Given the description of an element on the screen output the (x, y) to click on. 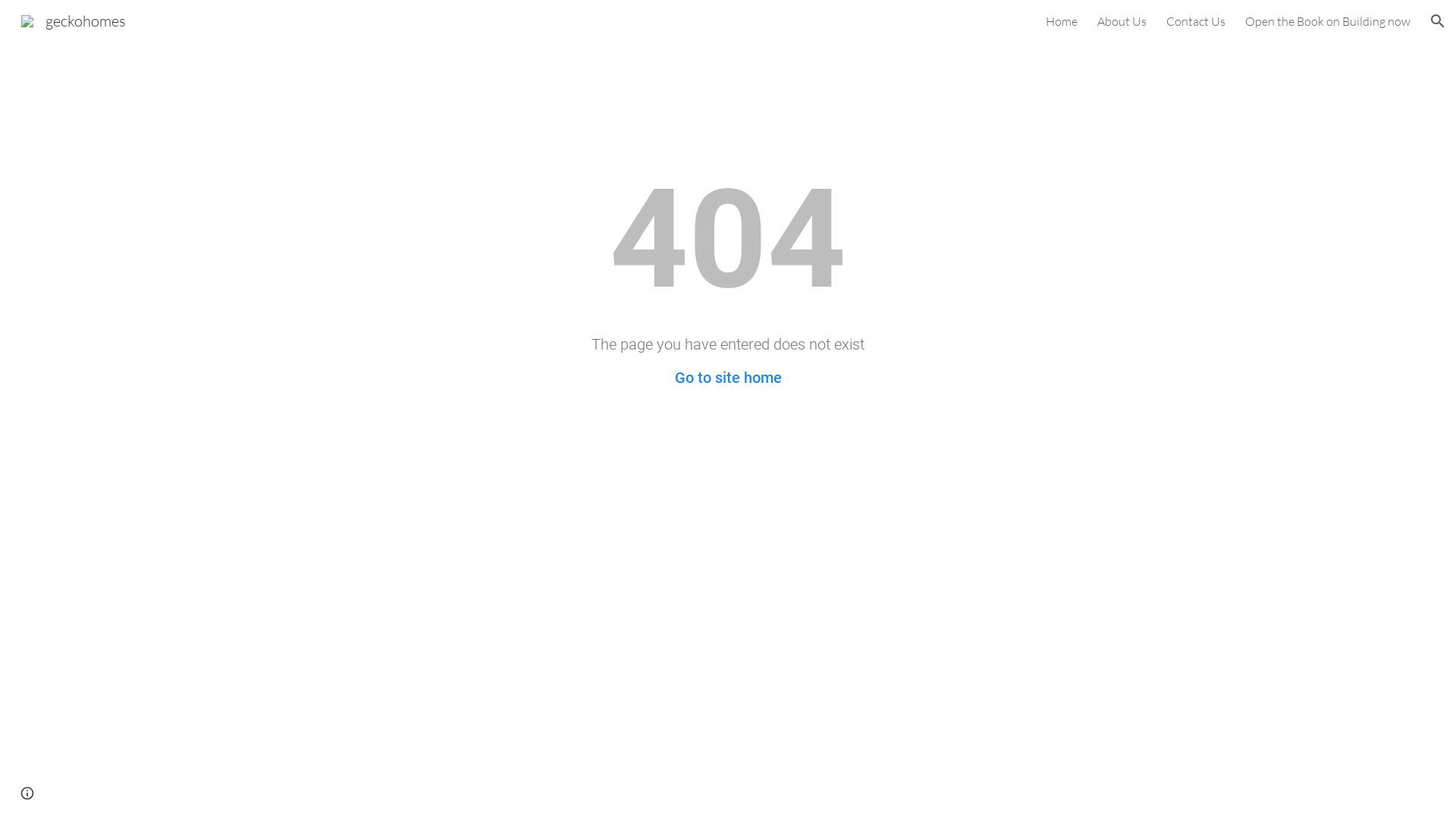
Go to site home Element type: text (727, 377)
Contact Us Element type: text (1195, 20)
Home Element type: text (1061, 20)
geckohomes Element type: text (73, 18)
Open the Book on Building now Element type: text (1327, 20)
About Us Element type: text (1121, 20)
